Given the description of an element on the screen output the (x, y) to click on. 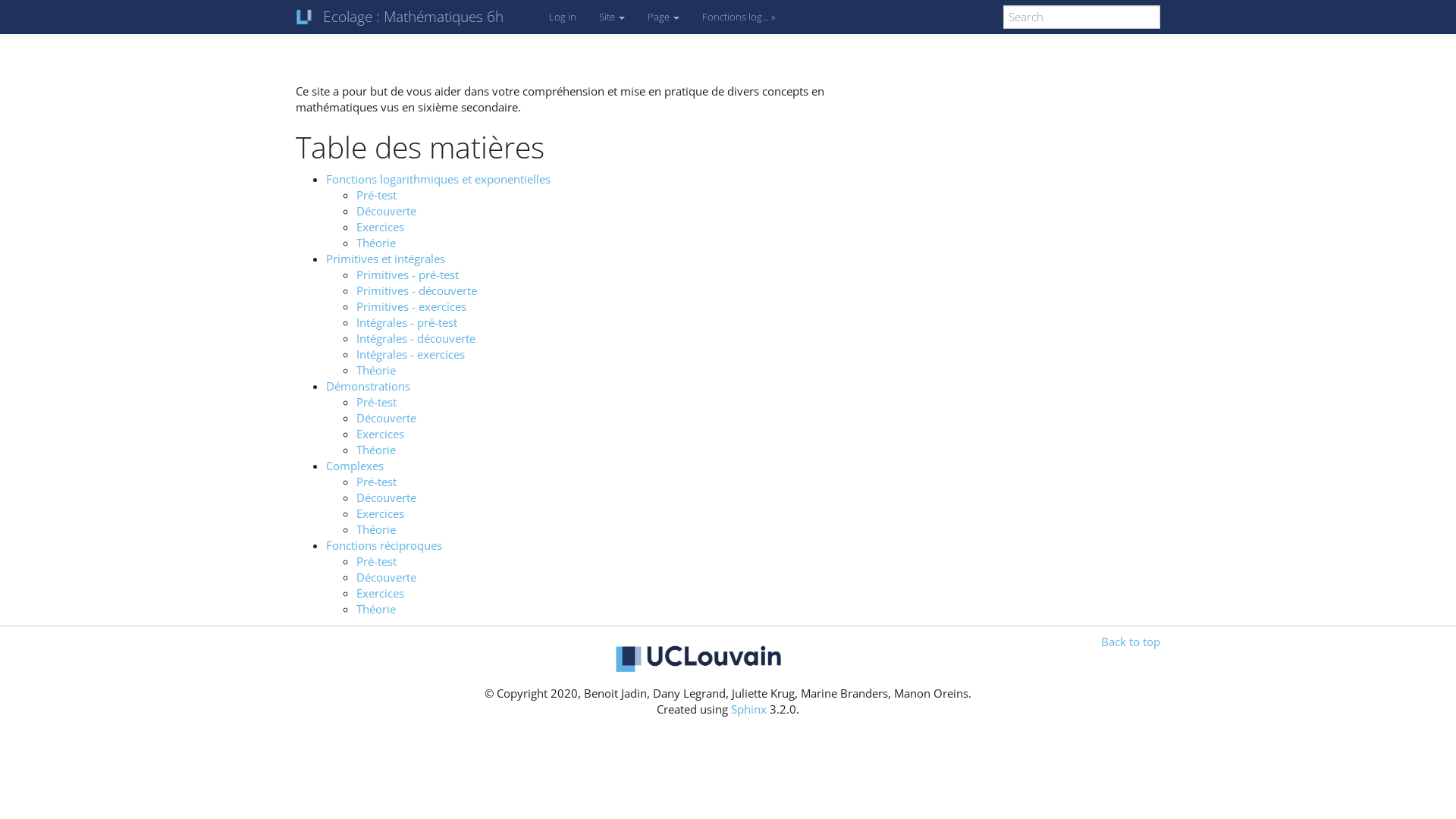
Exercices Element type: text (380, 433)
Sphinx Element type: text (748, 708)
Page Element type: text (663, 17)
Exercices Element type: text (380, 592)
Log in Element type: text (1361, 18)
Primitives - exercices Element type: text (411, 305)
Exercices Element type: text (380, 226)
Rappels Math 6 Element type: text (52, 18)
Complexes Element type: text (354, 465)
Exercices Element type: text (380, 512)
Fonctions logarithmiques et exponentielles Element type: text (438, 178)
Log in Element type: text (562, 17)
Back to top Element type: text (1130, 641)
Site Element type: text (611, 17)
